Given the description of an element on the screen output the (x, y) to click on. 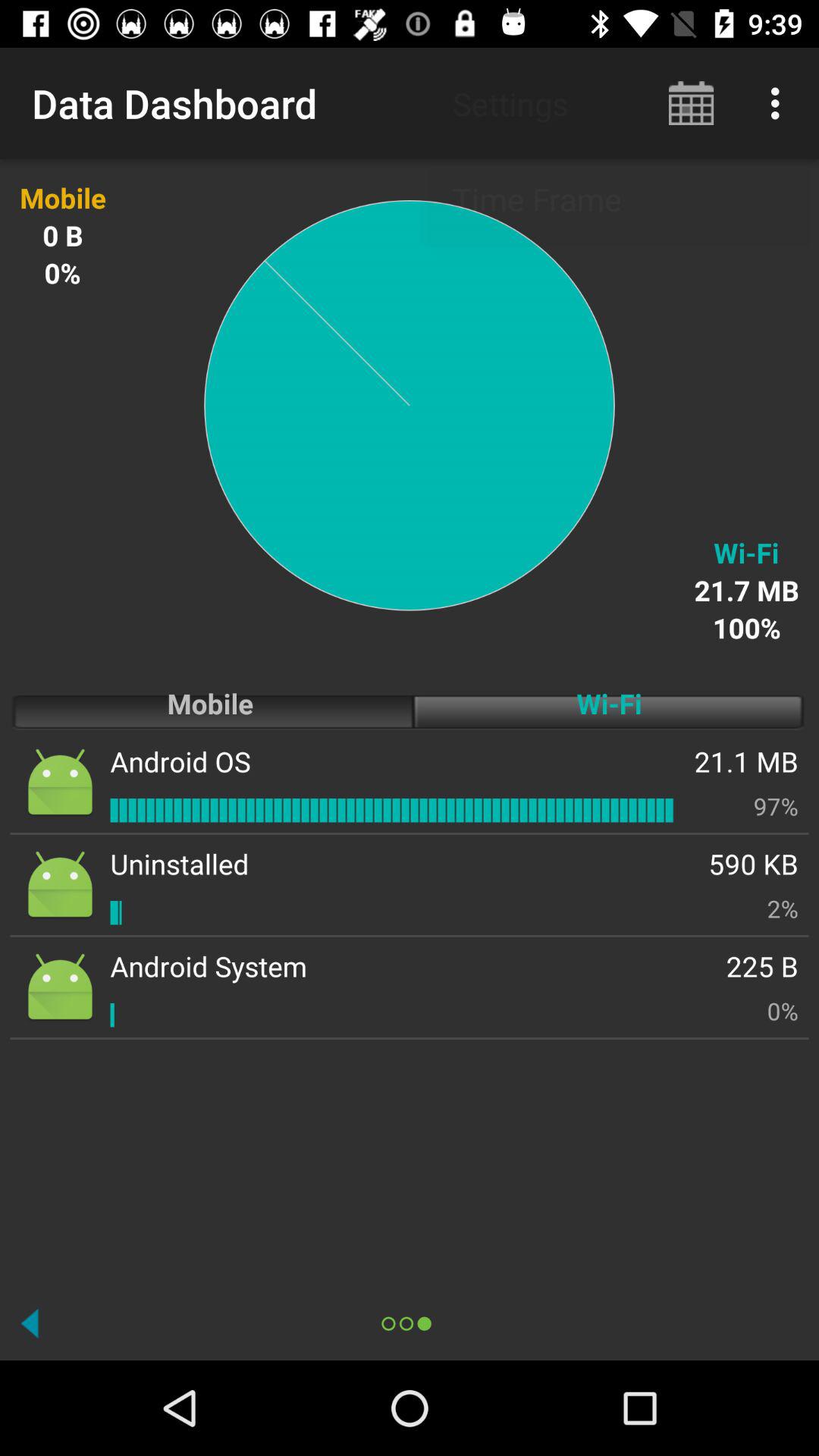
turn off icon next to android system icon (762, 966)
